Given the description of an element on the screen output the (x, y) to click on. 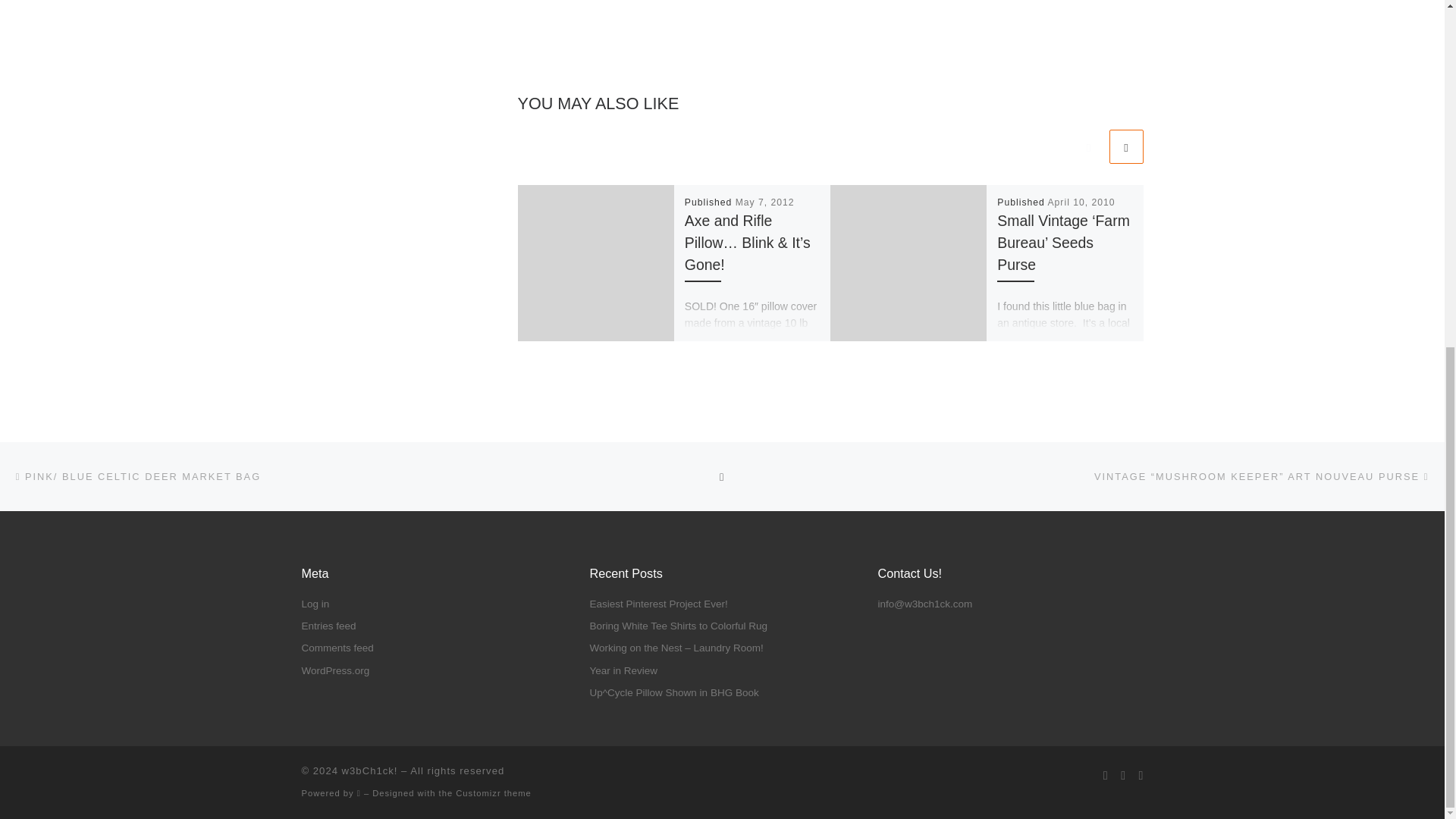
Next related articles (1125, 146)
April 10, 2010 (1080, 202)
Previous related articles (1088, 146)
May 7, 2012 (764, 202)
